Given the description of an element on the screen output the (x, y) to click on. 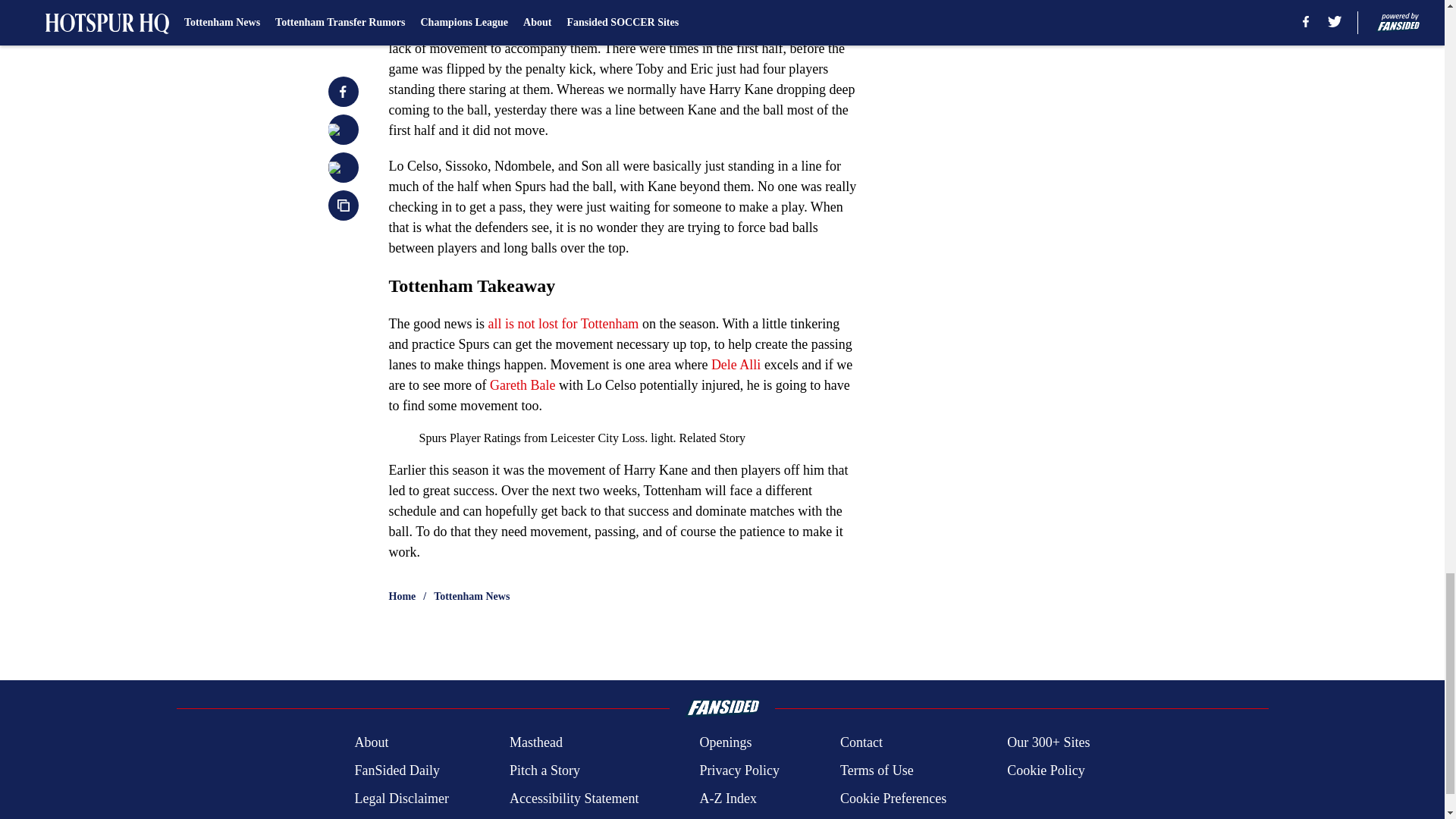
Terms of Use (877, 770)
Dele Alli (736, 364)
Cookie Policy (1045, 770)
Cookie Preferences (893, 798)
A-Z Index (726, 798)
Gareth Bale (521, 385)
Contact (861, 742)
Openings (724, 742)
all is not lost for Tottenham (563, 323)
About (370, 742)
Home (401, 596)
Tottenham News (471, 596)
Privacy Policy (738, 770)
Accessibility Statement (574, 798)
Masthead (535, 742)
